Given the description of an element on the screen output the (x, y) to click on. 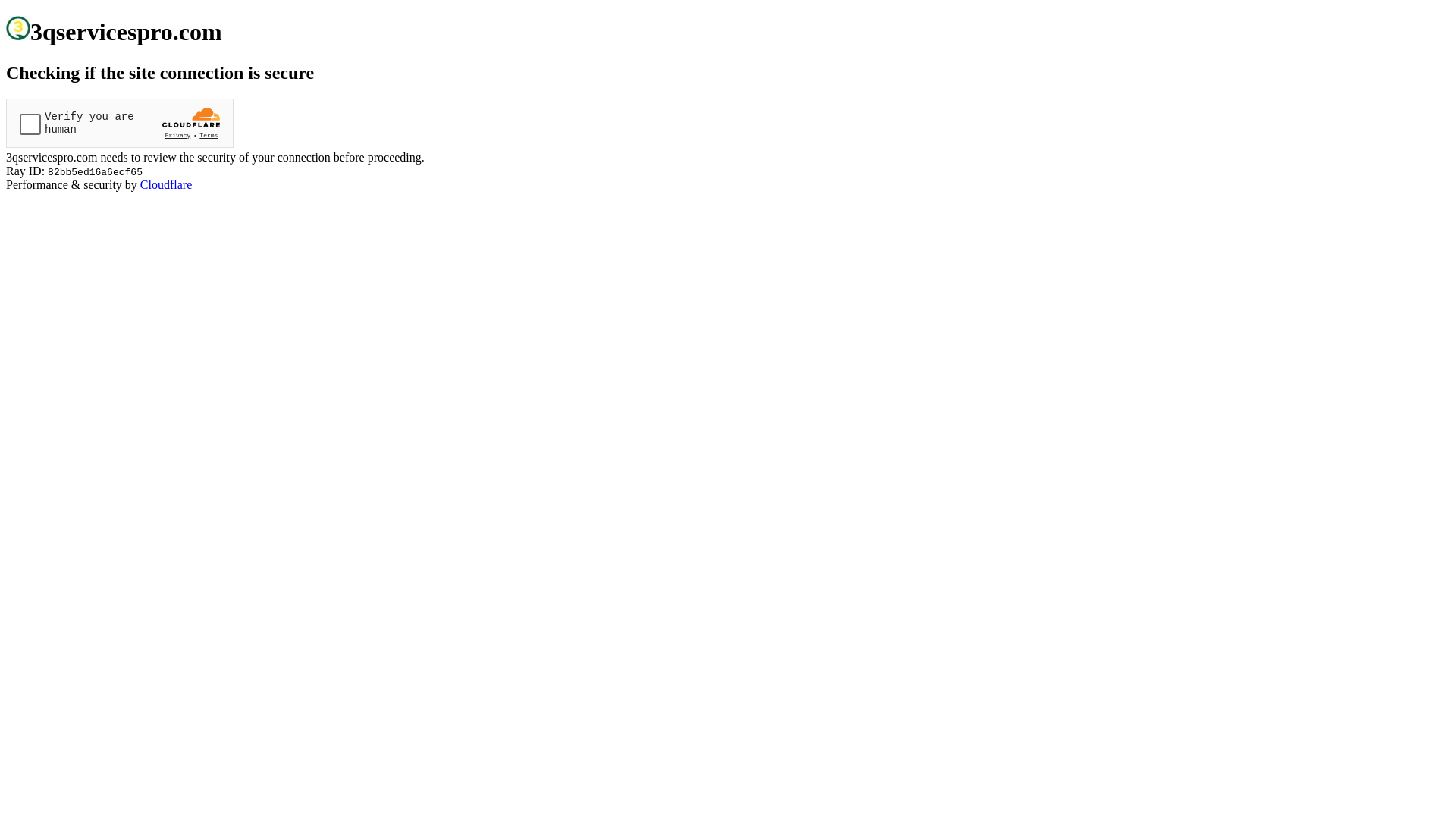
Cloudflare Element type: text (165, 184)
Widget containing a Cloudflare security challenge Element type: hover (119, 122)
